Given the description of an element on the screen output the (x, y) to click on. 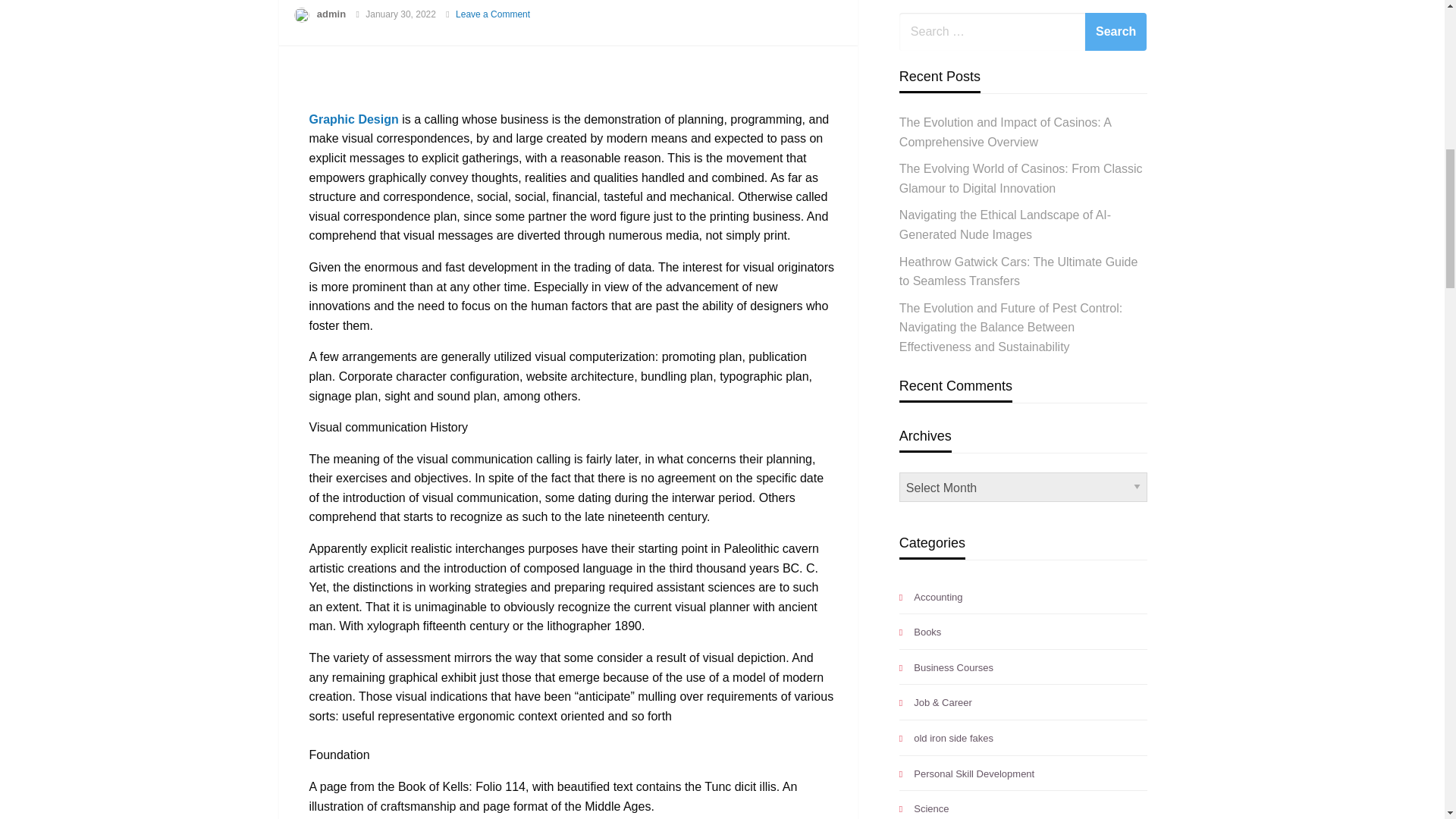
admin (331, 13)
Search (1115, 31)
admin (331, 13)
Search (1115, 31)
Graphic Design (353, 119)
